Given the description of an element on the screen output the (x, y) to click on. 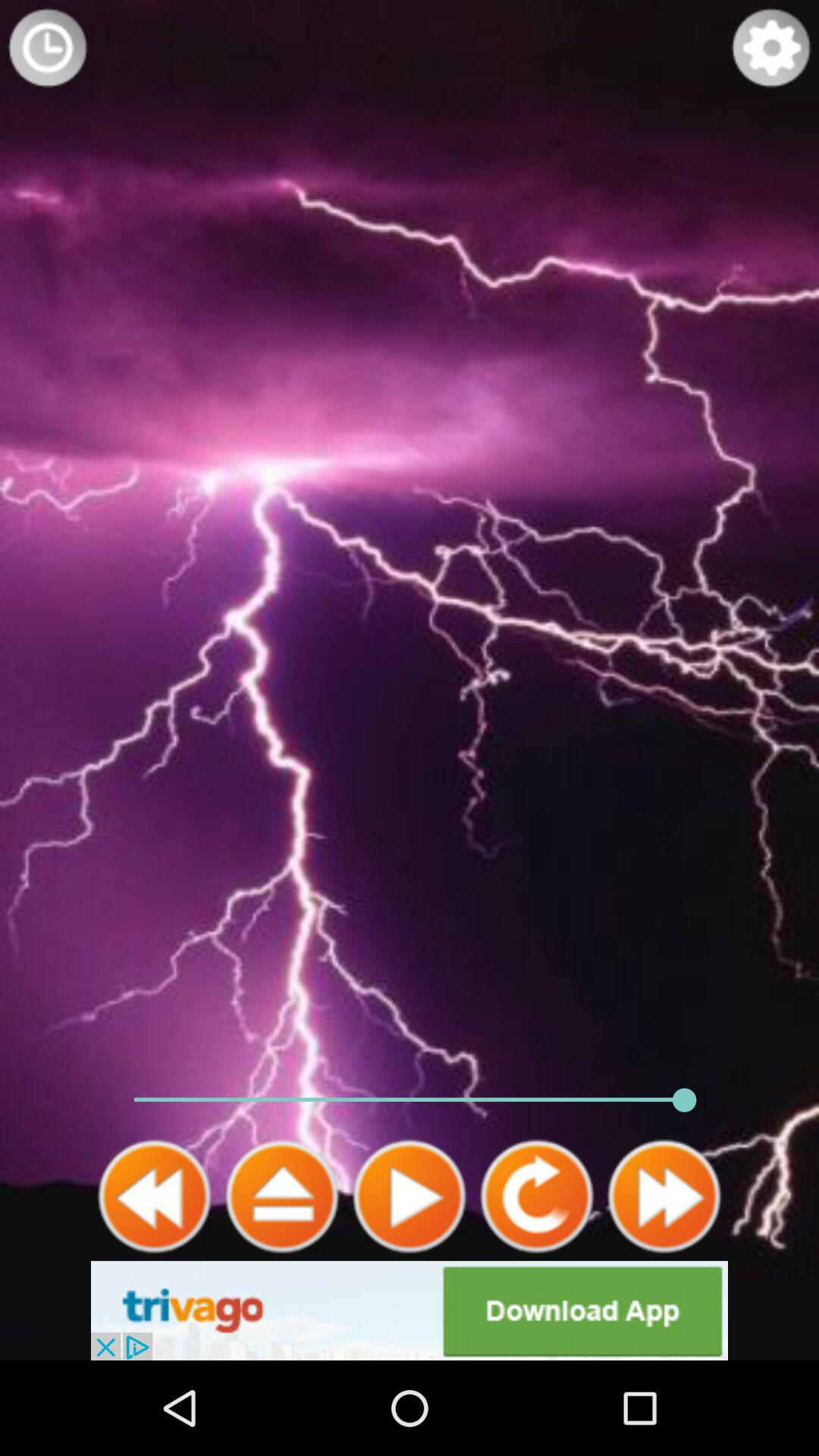
advertisement (409, 1310)
